Given the description of an element on the screen output the (x, y) to click on. 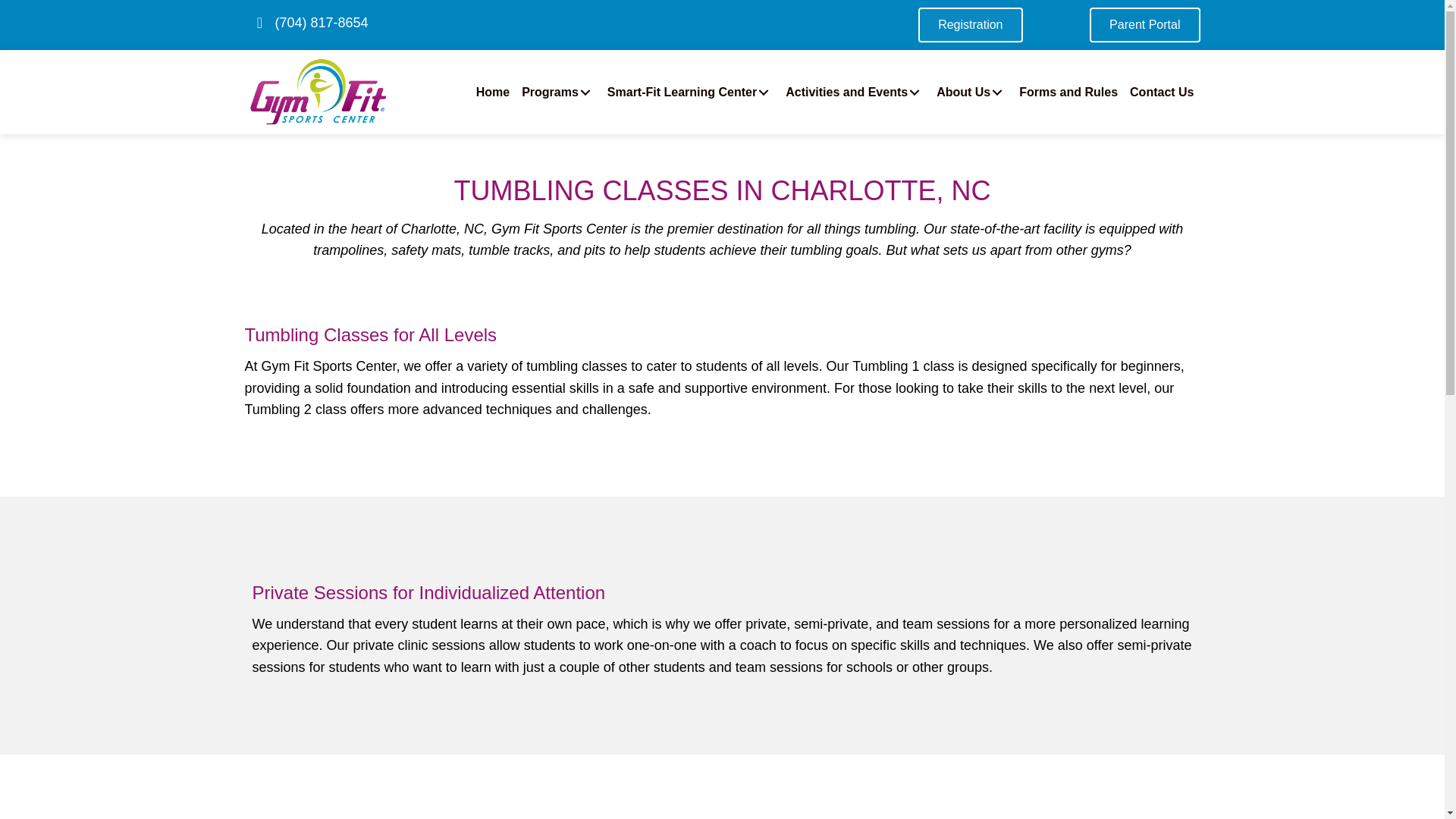
Activities and Events (854, 92)
Smart-Fit Learning Center (689, 92)
Parent Portal (1144, 24)
Forms and Rules (1068, 92)
Contact Us (1161, 92)
About Us (971, 92)
Home (492, 92)
Registration (970, 24)
logo (317, 91)
Programs (558, 92)
